Given the description of an element on the screen output the (x, y) to click on. 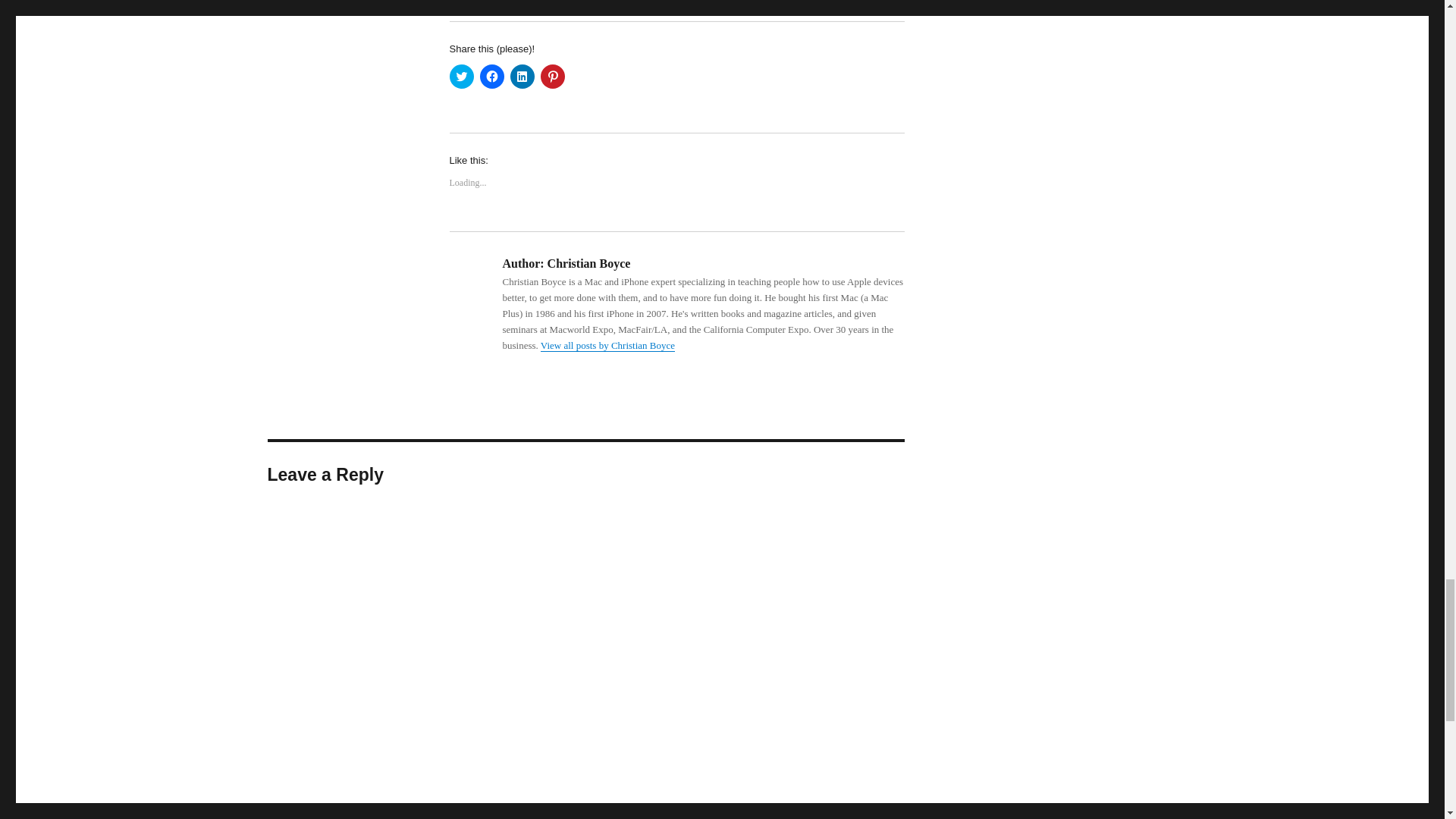
Click to share on Facebook (491, 76)
Click to share on Pinterest (552, 76)
View all posts by Christian Boyce (607, 345)
Click to share on LinkedIn (521, 76)
Click to share on Twitter (460, 76)
